Given the description of an element on the screen output the (x, y) to click on. 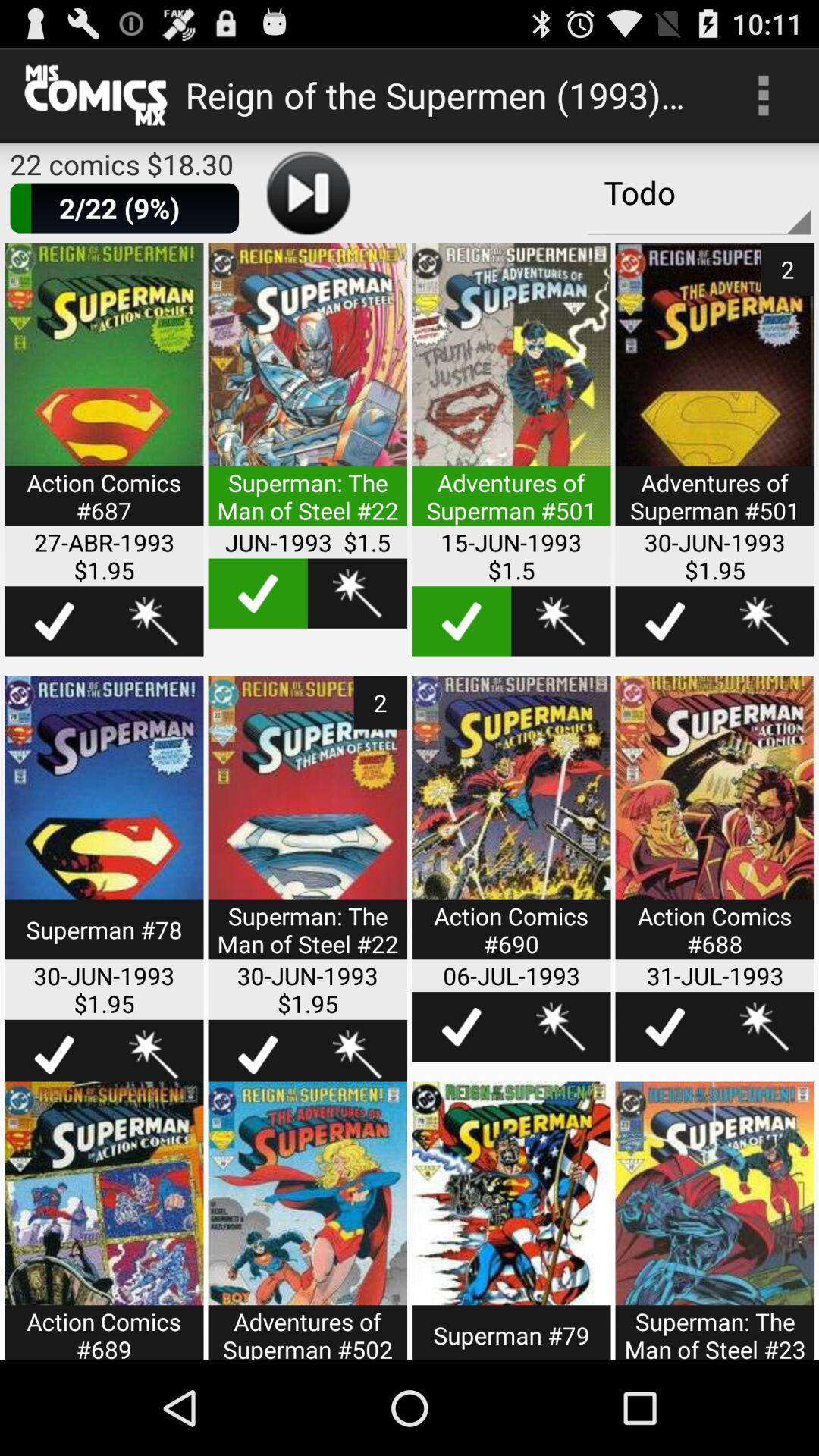
open title (103, 827)
